Given the description of an element on the screen output the (x, y) to click on. 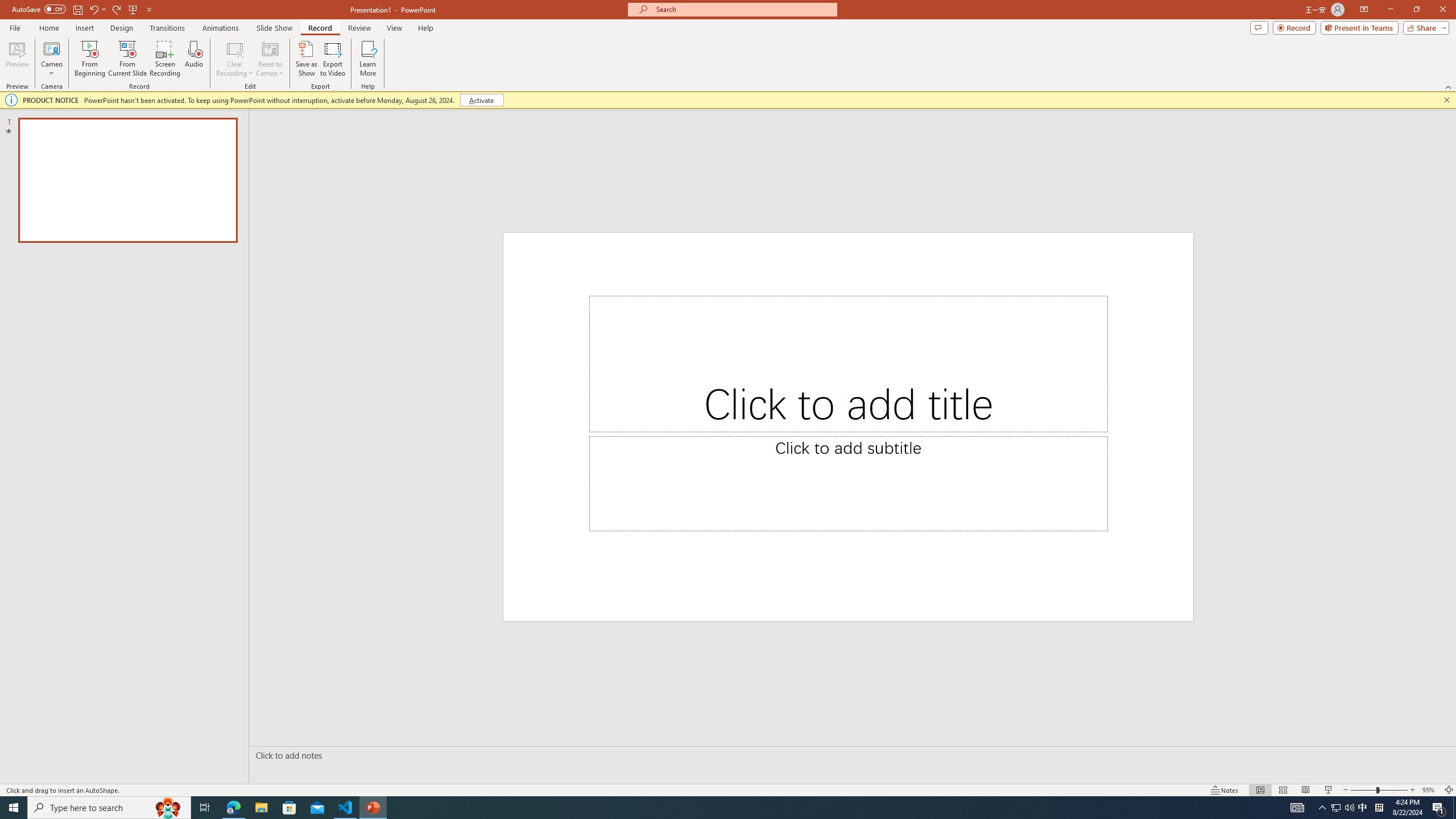
Close this message (1446, 99)
